Given the description of an element on the screen output the (x, y) to click on. 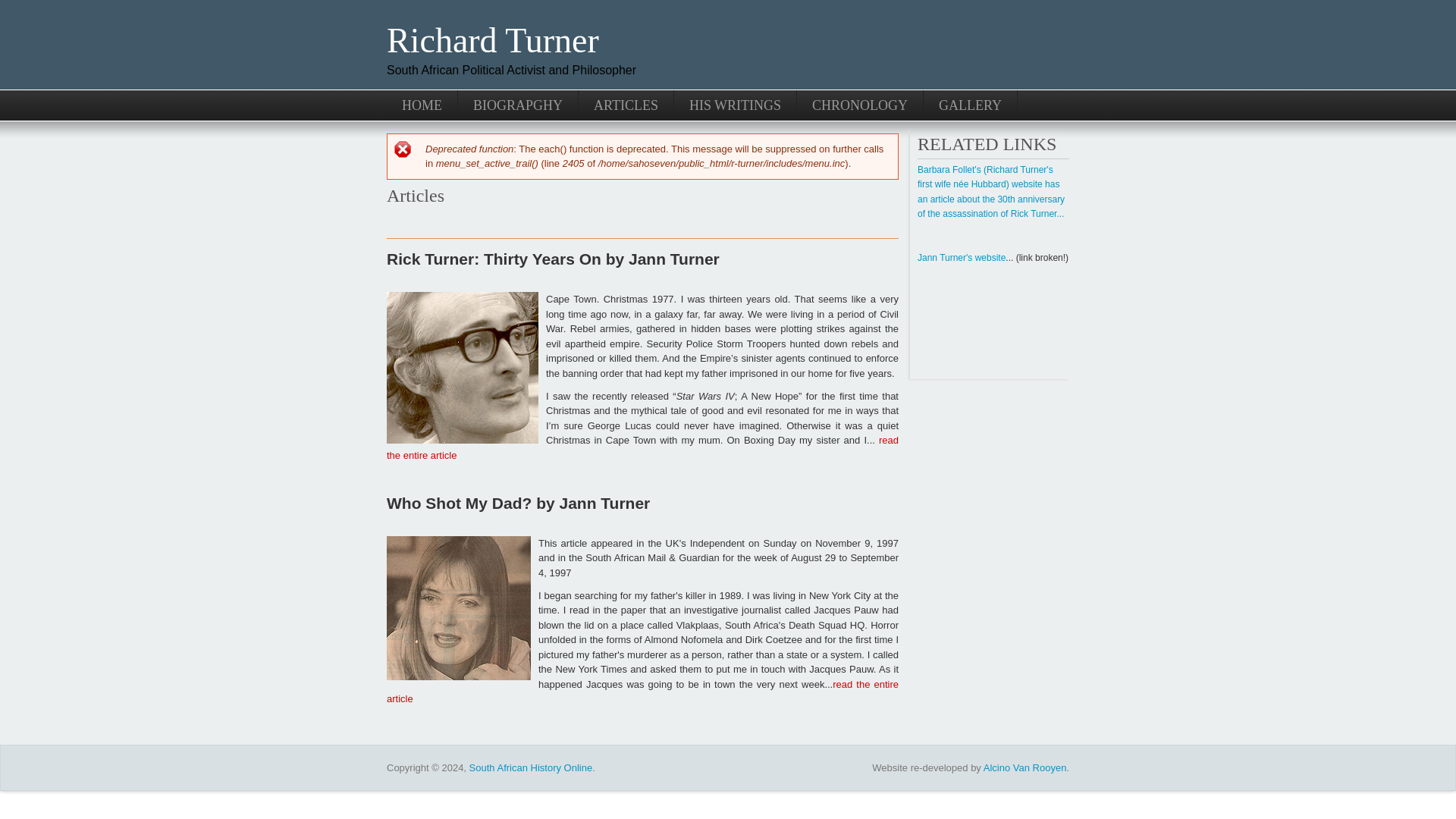
HIS WRITINGS (735, 104)
BIOGRAPGHY (518, 104)
HOME (422, 104)
GALLERY (970, 104)
read the entire article (642, 691)
Richard Turner (492, 40)
ARTICLES (626, 104)
Alcino Van Rooyen (1025, 767)
Home (492, 40)
read the entire article (642, 447)
CHRONOLOGY (859, 104)
South African History Online (530, 767)
Jann Turner's website (961, 257)
